Given the description of an element on the screen output the (x, y) to click on. 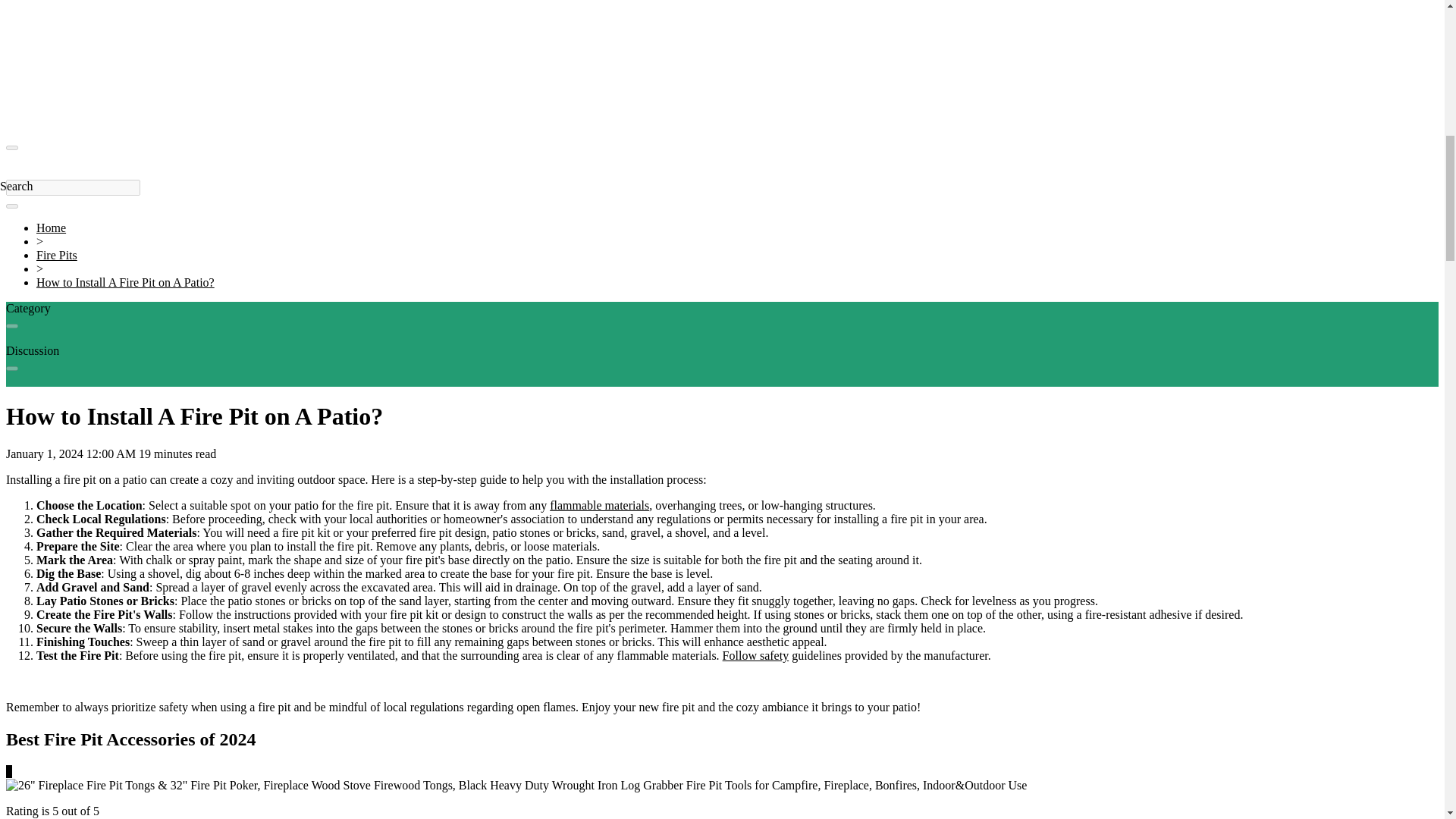
flammable materials (599, 504)
Home (50, 227)
How to Install A Fire Pit on A Patio? (125, 282)
Fire Pits (56, 254)
Follow safety (755, 655)
